Given the description of an element on the screen output the (x, y) to click on. 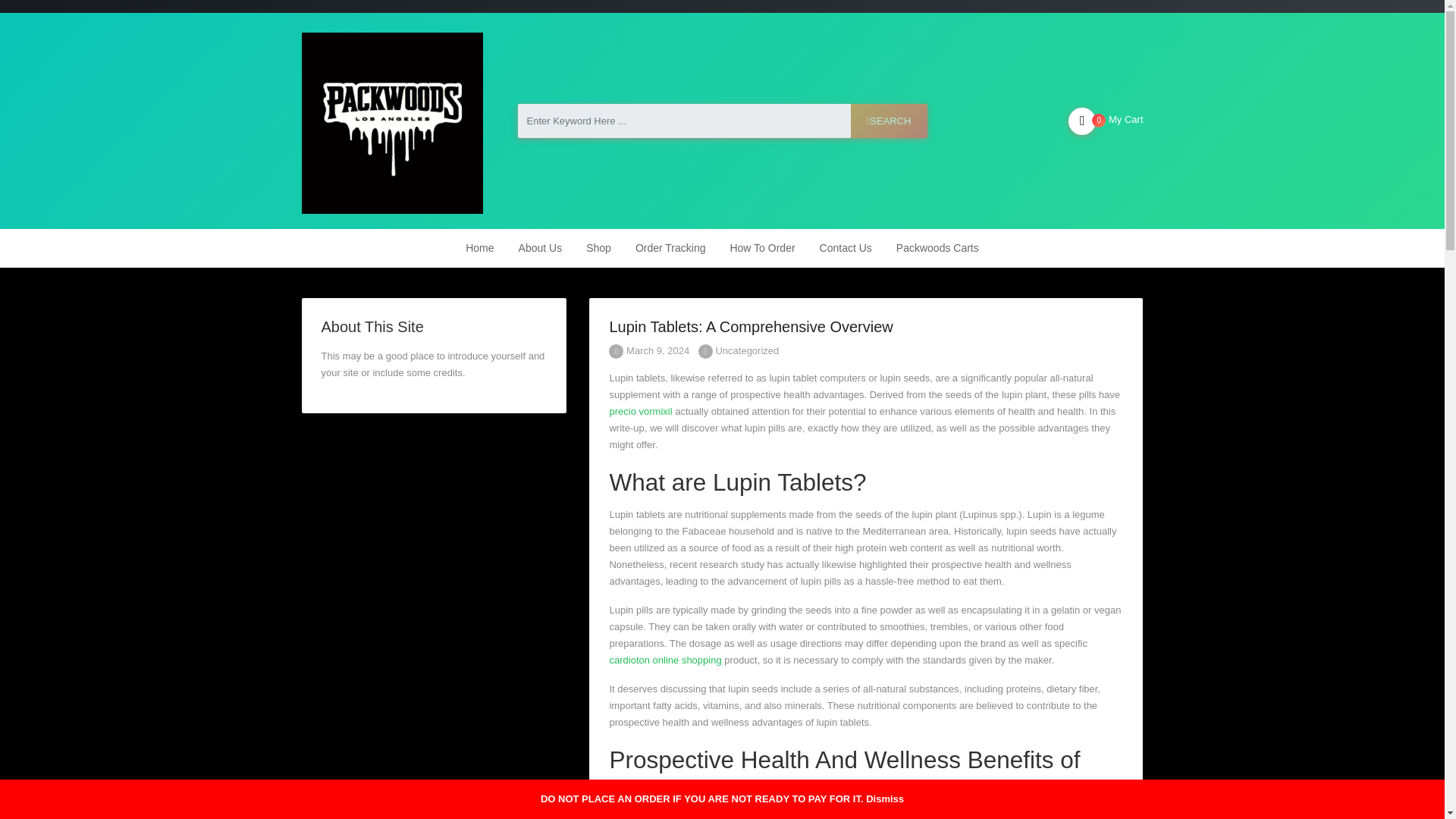
March 9, 2024 (648, 350)
Home (478, 248)
cardioton online shopping (664, 659)
About Us (540, 248)
Uncategorized (746, 350)
How To Order (761, 248)
Dismiss (885, 798)
Packwoods Carts (937, 248)
Order Tracking (670, 248)
SEARCH (888, 121)
precio vormixil (639, 410)
Lupin Tablets: A Comprehensive Overview (750, 326)
Shop (598, 248)
Packwoods Los Angeles (392, 120)
